Given the description of an element on the screen output the (x, y) to click on. 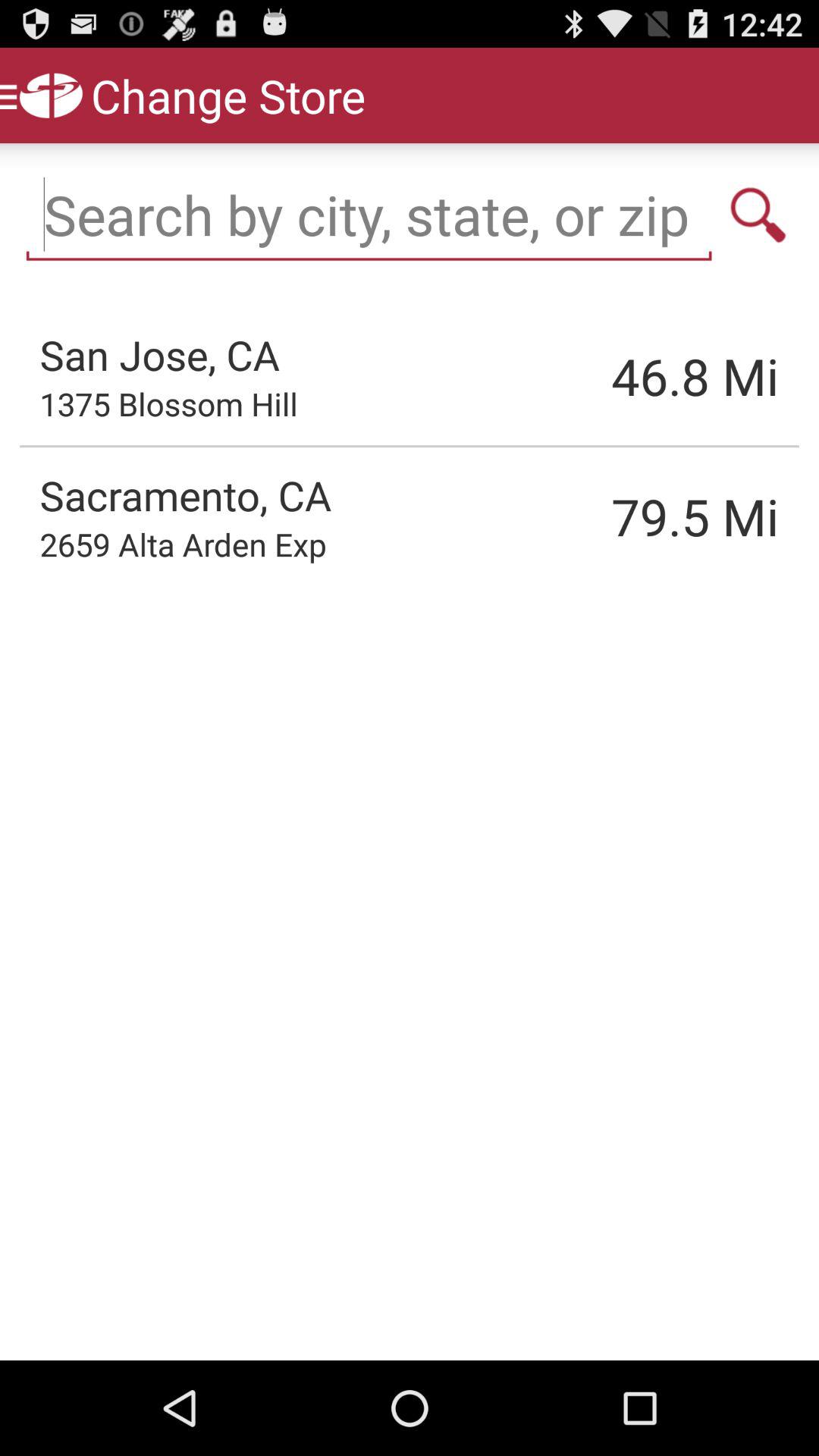
input city name state name or zip code (368, 215)
